Given the description of an element on the screen output the (x, y) to click on. 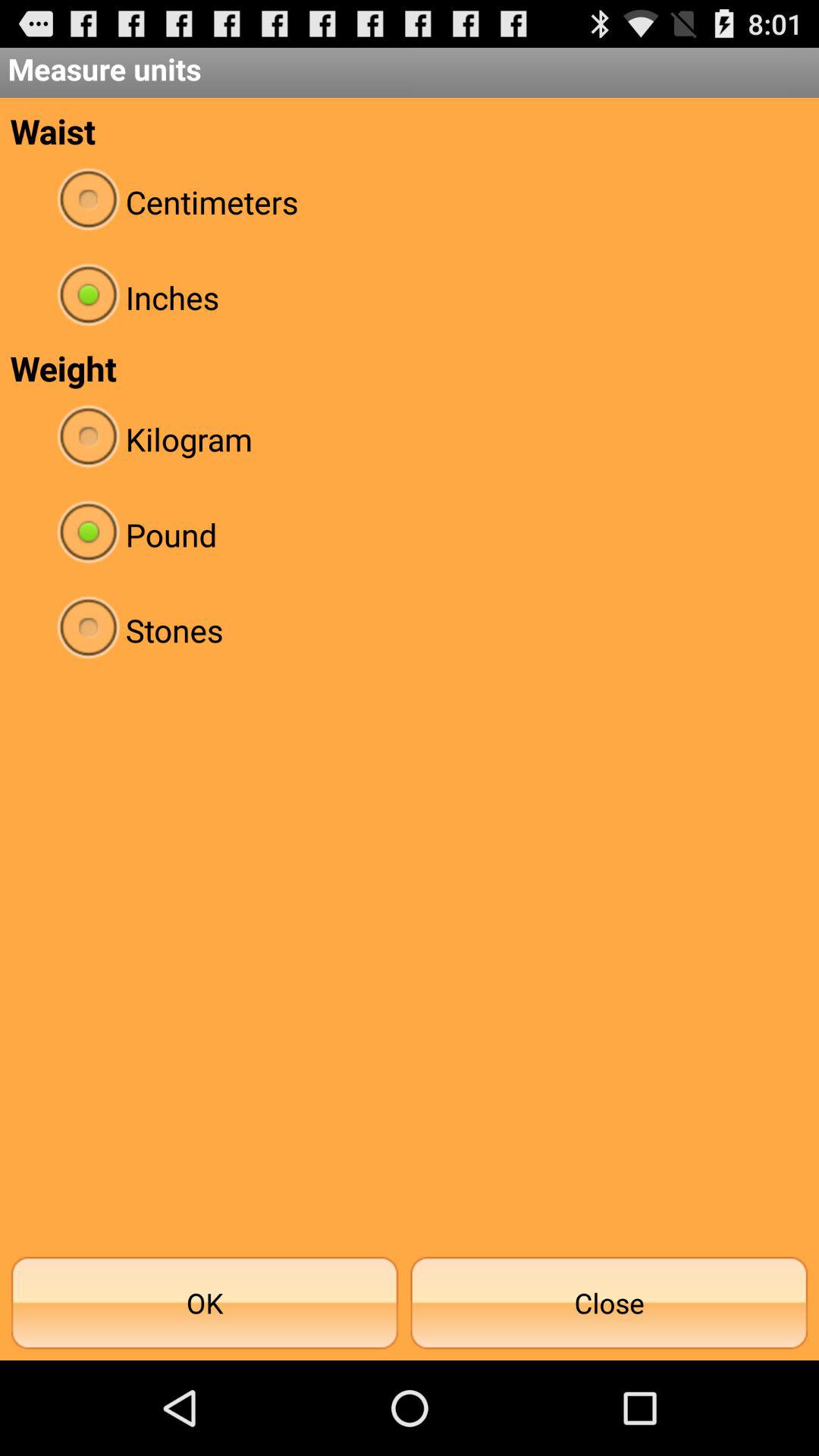
select close button (608, 1302)
